Given the description of an element on the screen output the (x, y) to click on. 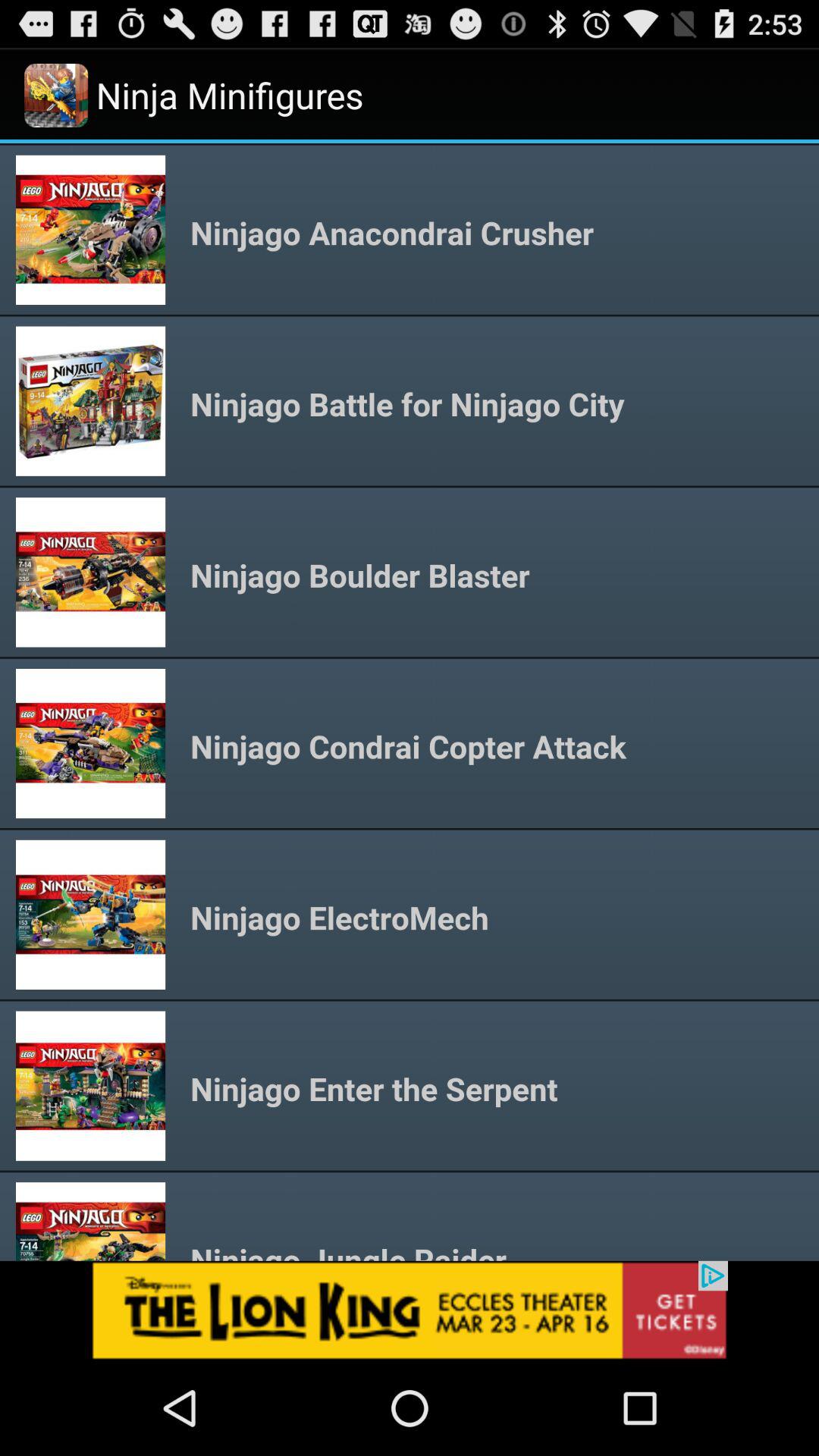
go to the lion king advertisement (409, 1310)
